Given the description of an element on the screen output the (x, y) to click on. 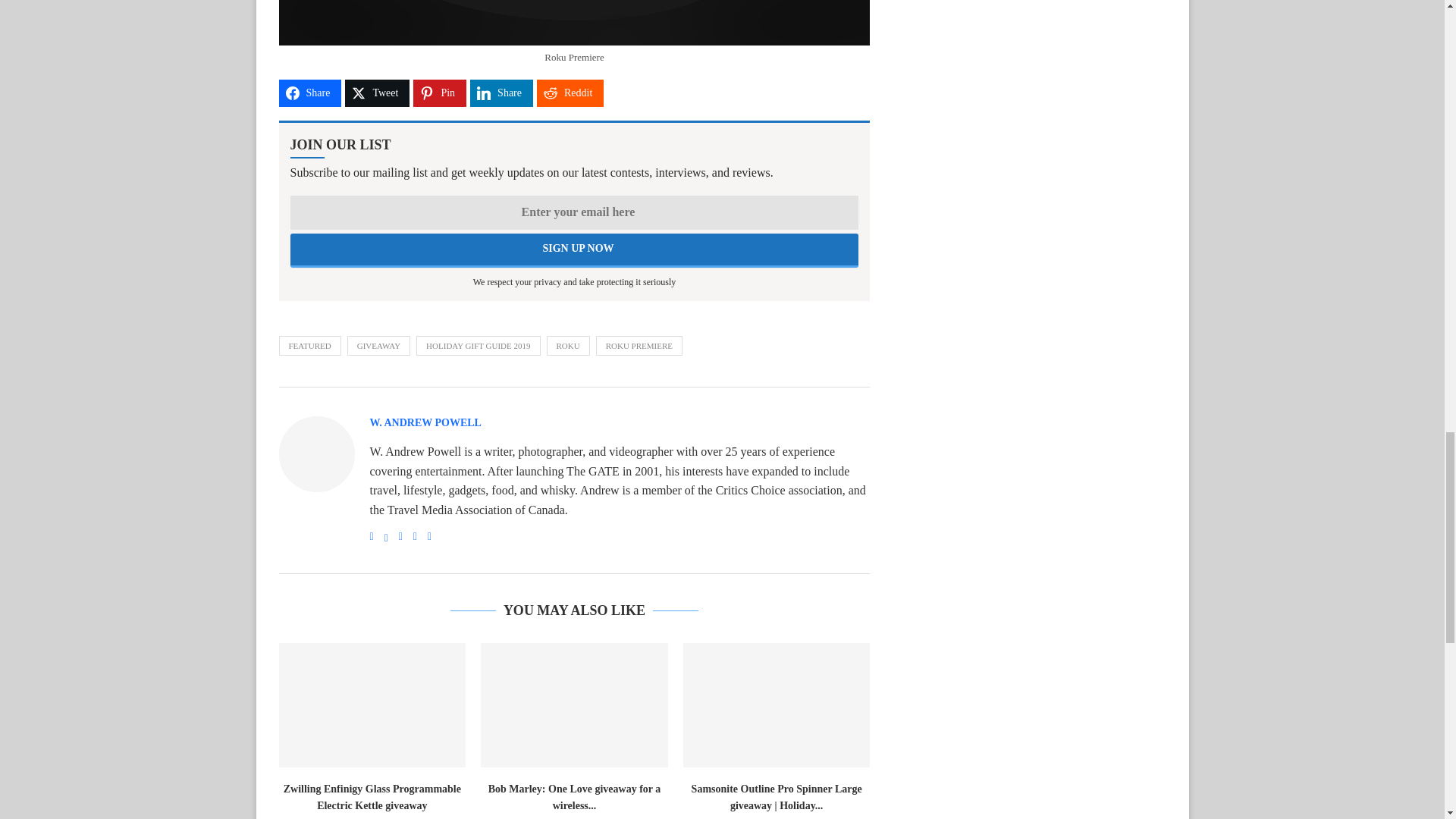
Share on Reddit (570, 93)
Share on Pin (439, 93)
Tweet (377, 93)
HOLIDAY GIFT GUIDE 2019 (478, 345)
Author W. Andrew Powell (425, 423)
Sign Up Now (574, 250)
Sign Up Now (574, 250)
Share on Share (310, 93)
ROKU (568, 345)
Share on Share (501, 93)
W. ANDREW POWELL (425, 423)
Share (310, 93)
GIVEAWAY (378, 345)
